Given the description of an element on the screen output the (x, y) to click on. 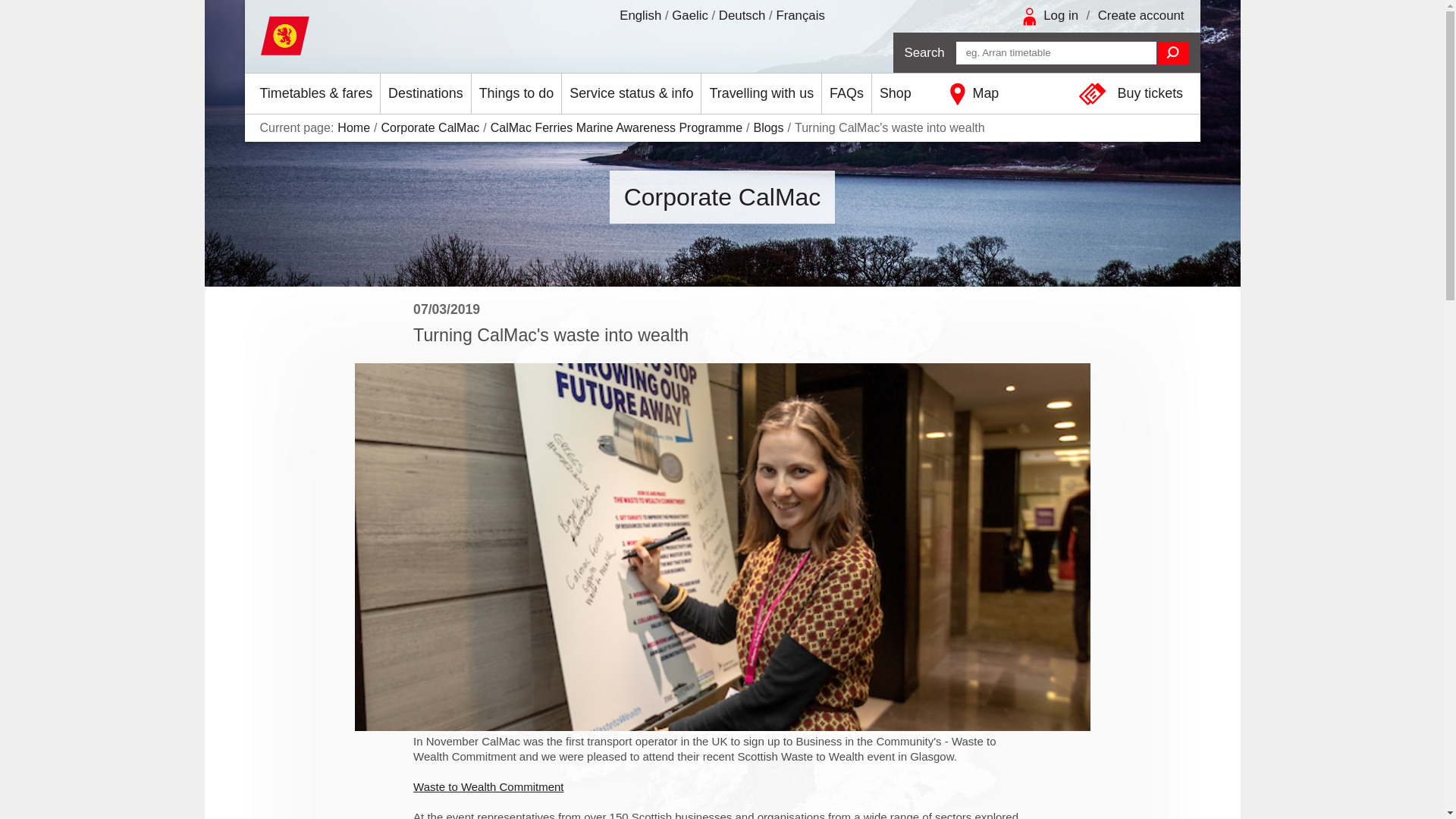
English (640, 15)
Go (1173, 52)
Log in (1060, 15)
Skip to main content (12, 12)
Things to do (516, 93)
Buy tickets (1134, 93)
Gaelic (689, 15)
Travelling with us (761, 93)
FAQs (846, 93)
Create account (1141, 15)
